Given the description of an element on the screen output the (x, y) to click on. 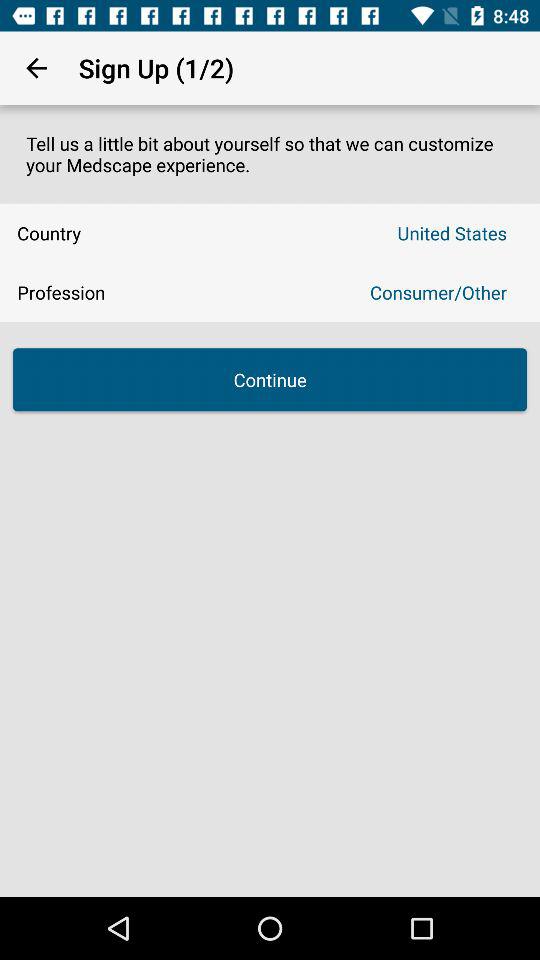
choose item below profession (269, 379)
